Given the description of an element on the screen output the (x, y) to click on. 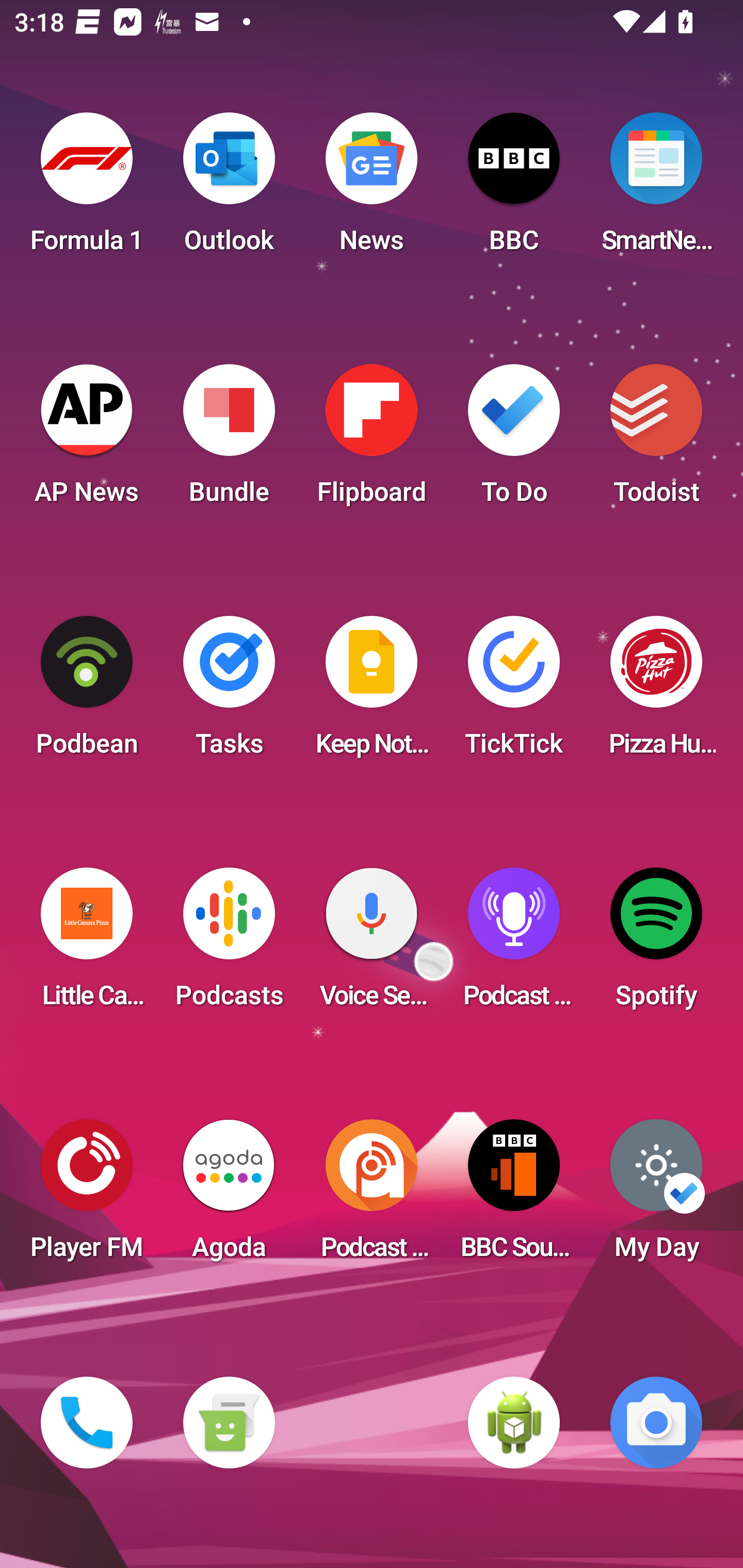
Formula 1 (86, 188)
Outlook (228, 188)
News (371, 188)
BBC (513, 188)
SmartNews (656, 188)
AP News (86, 440)
Bundle (228, 440)
Flipboard (371, 440)
To Do (513, 440)
Todoist (656, 440)
Podbean (86, 692)
Tasks (228, 692)
Keep Notes (371, 692)
TickTick (513, 692)
Pizza Hut HK & Macau (656, 692)
Little Caesars Pizza (86, 943)
Podcasts (228, 943)
Voice Search (371, 943)
Podcast Player (513, 943)
Spotify (656, 943)
Player FM (86, 1195)
Agoda (228, 1195)
Podcast Addict (371, 1195)
BBC Sounds (513, 1195)
My Day (656, 1195)
Phone (86, 1422)
Messaging (228, 1422)
WebView Browser Tester (513, 1422)
Camera (656, 1422)
